Given the description of an element on the screen output the (x, y) to click on. 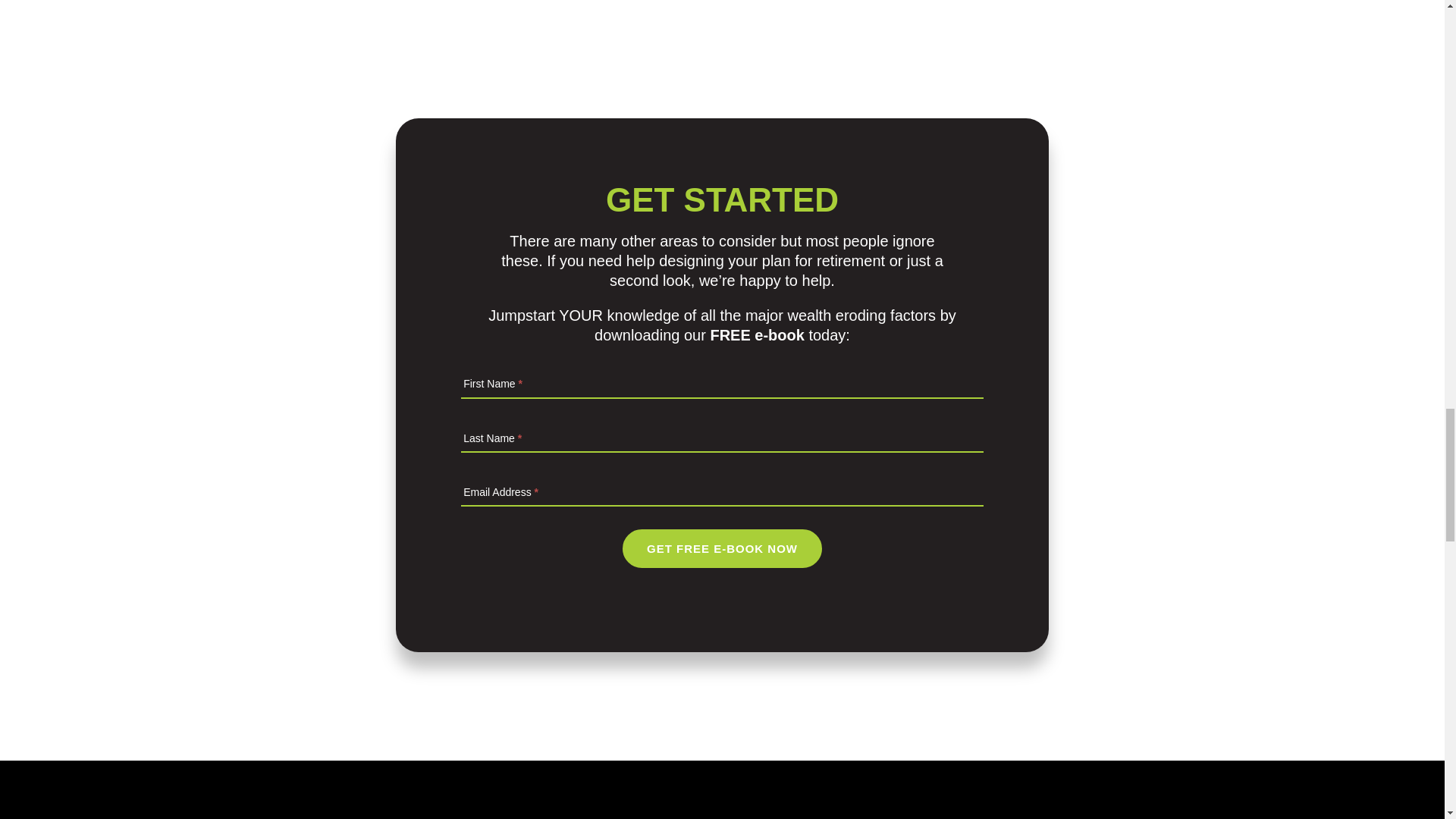
GET FREE E-BOOK NOW (722, 548)
